Given the description of an element on the screen output the (x, y) to click on. 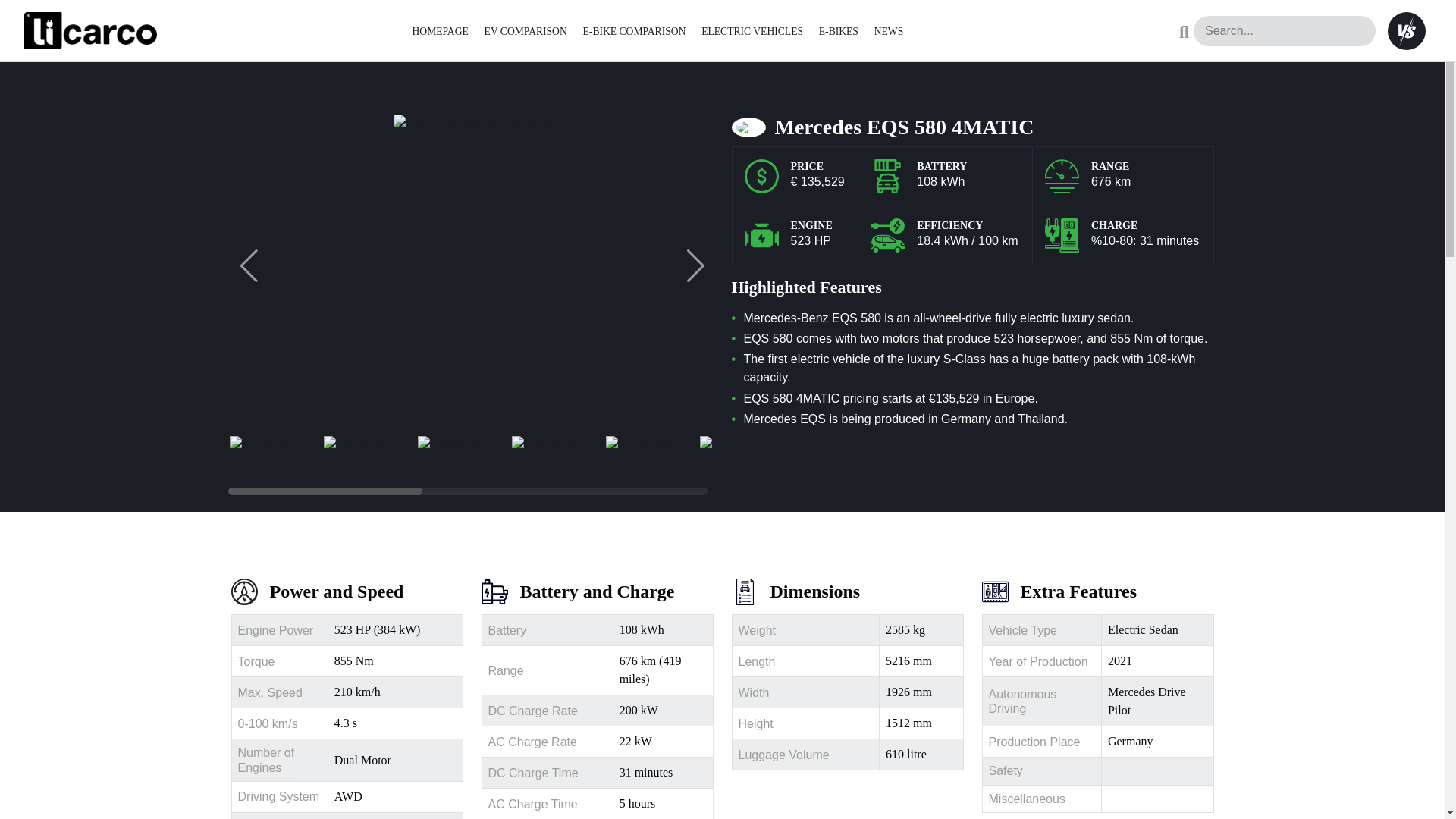
mercedes-eqs-autopilot-drive-pilot (454, 458)
mercedes-eqs-charge-time (266, 458)
E-BIKE COMPARISON (634, 30)
EV COMPARISON (525, 30)
E-BIKES (838, 30)
NEWS (889, 30)
ELECTRIC VEHICLES (752, 30)
mercedes-eqs-range-wltpe-epa (643, 458)
mercedes-eqs-matrix-led-headlight (548, 458)
HOMEPAGE (440, 30)
mercedes-eqs-interior-glass-roof (831, 458)
mercedes-eqs-battery-capacity (360, 458)
mercedes-eqs-aerodynamic-efficiency (736, 458)
